Given the description of an element on the screen output the (x, y) to click on. 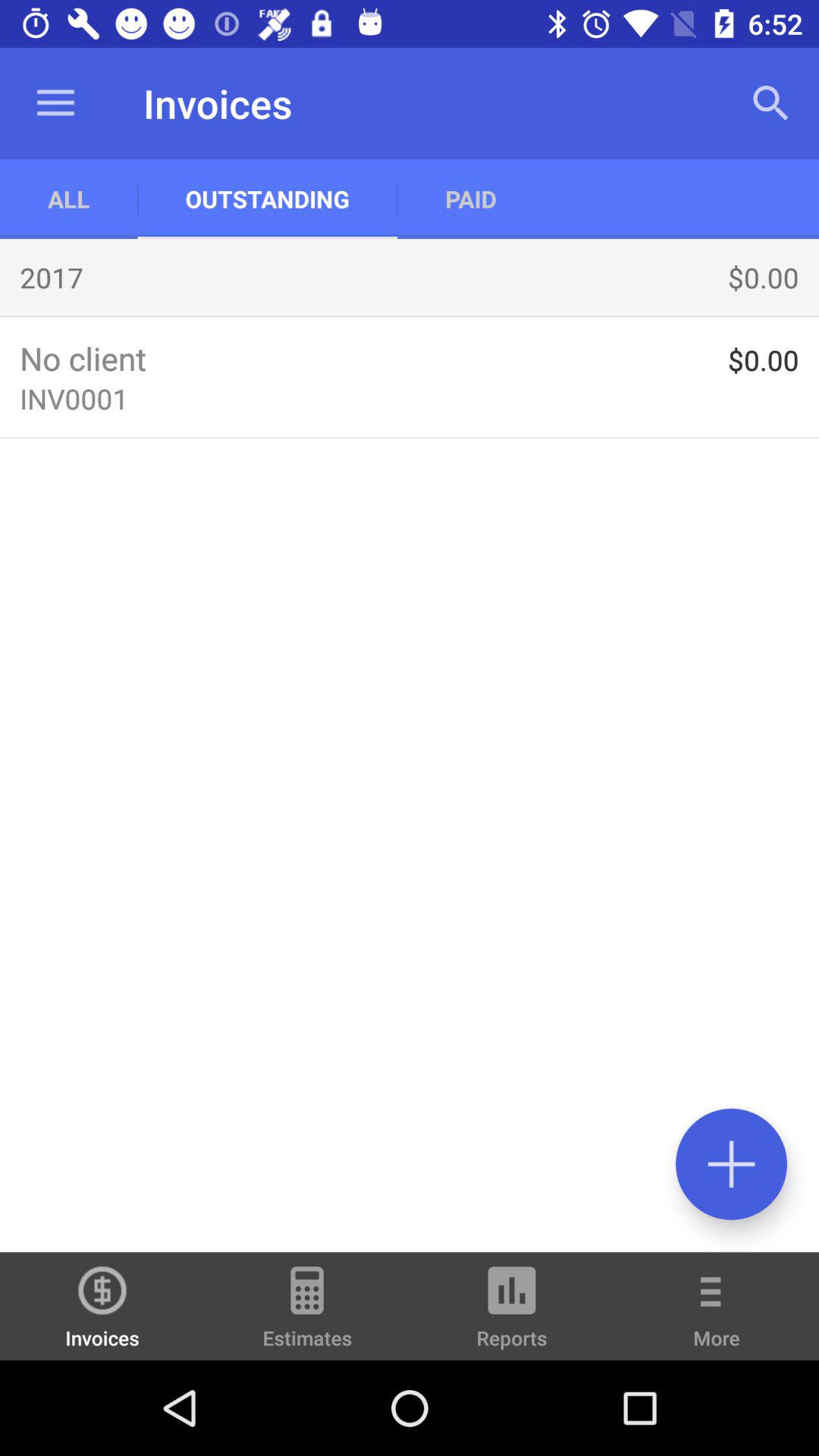
flip until all (68, 198)
